Given the description of an element on the screen output the (x, y) to click on. 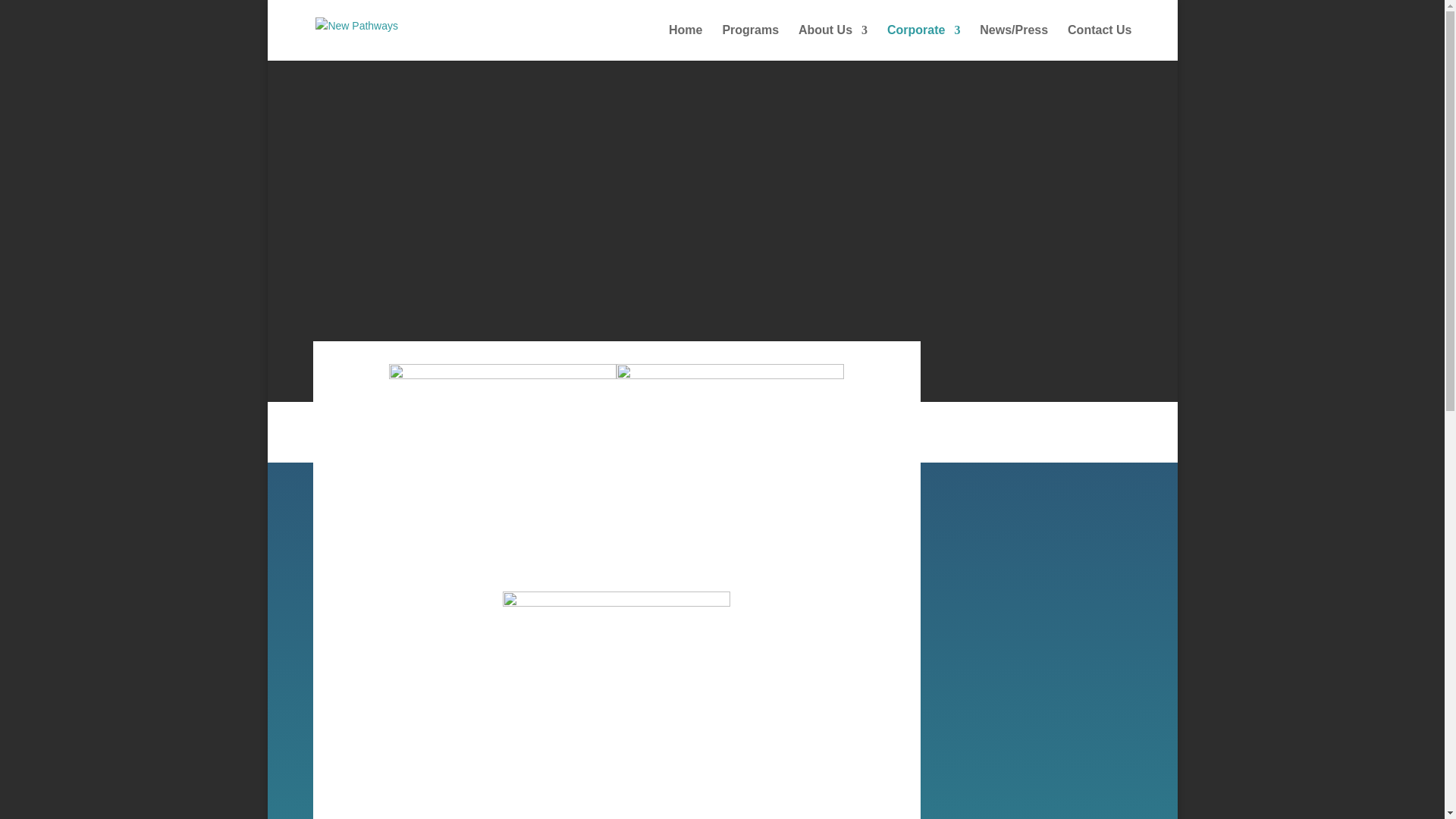
Corporate (922, 42)
Contact Us (1099, 42)
Programs (750, 42)
About Us (832, 42)
Home (684, 42)
